Given the description of an element on the screen output the (x, y) to click on. 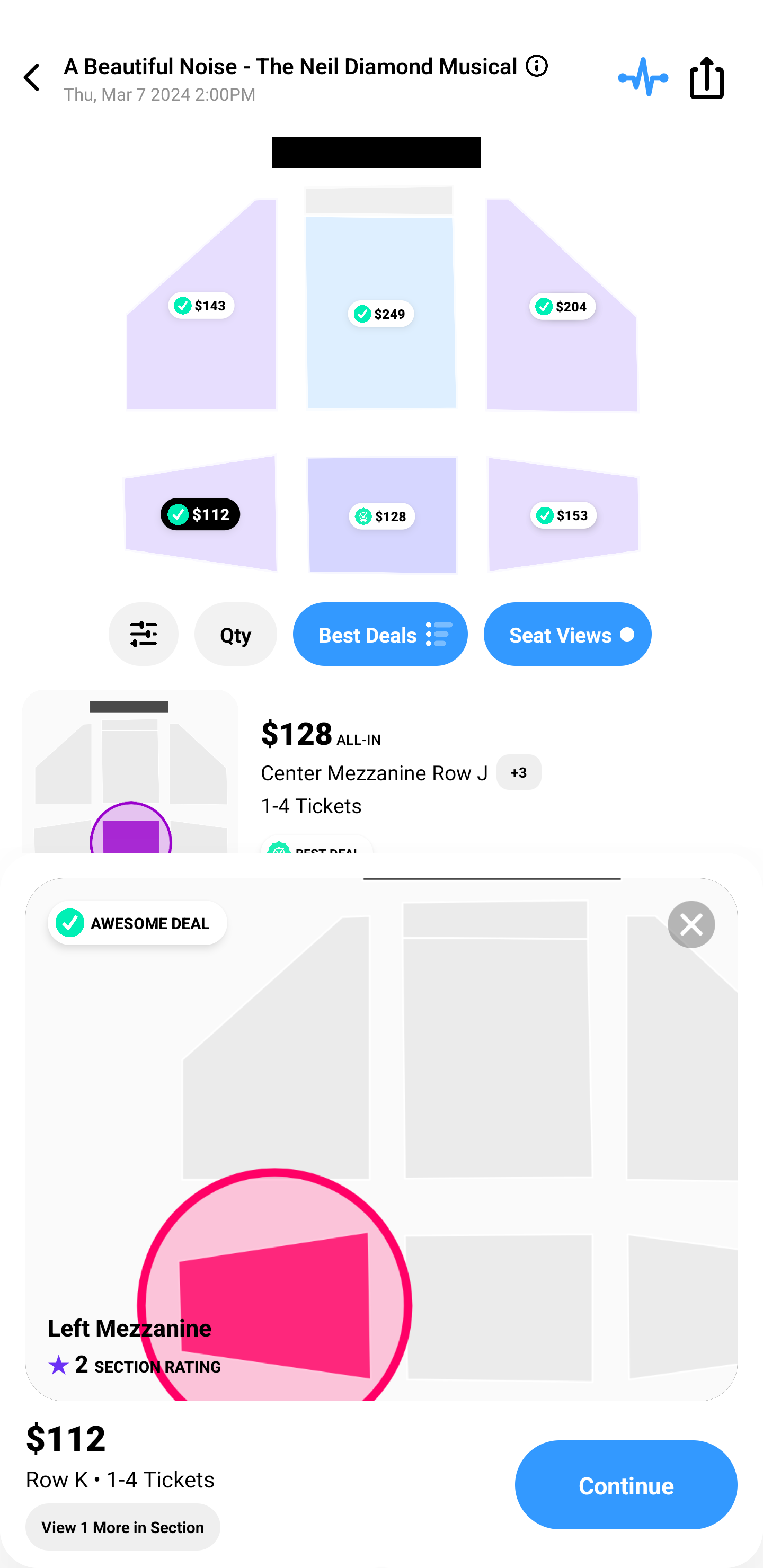
$249 (380, 313)
Qty (235, 634)
Best Deals (379, 634)
Seat Views (567, 634)
+3 (518, 772)
BEST DEAL (316, 852)
AWESOME DEAL (137, 922)
Continue (626, 1484)
View 1 More in Section (122, 1526)
